Given the description of an element on the screen output the (x, y) to click on. 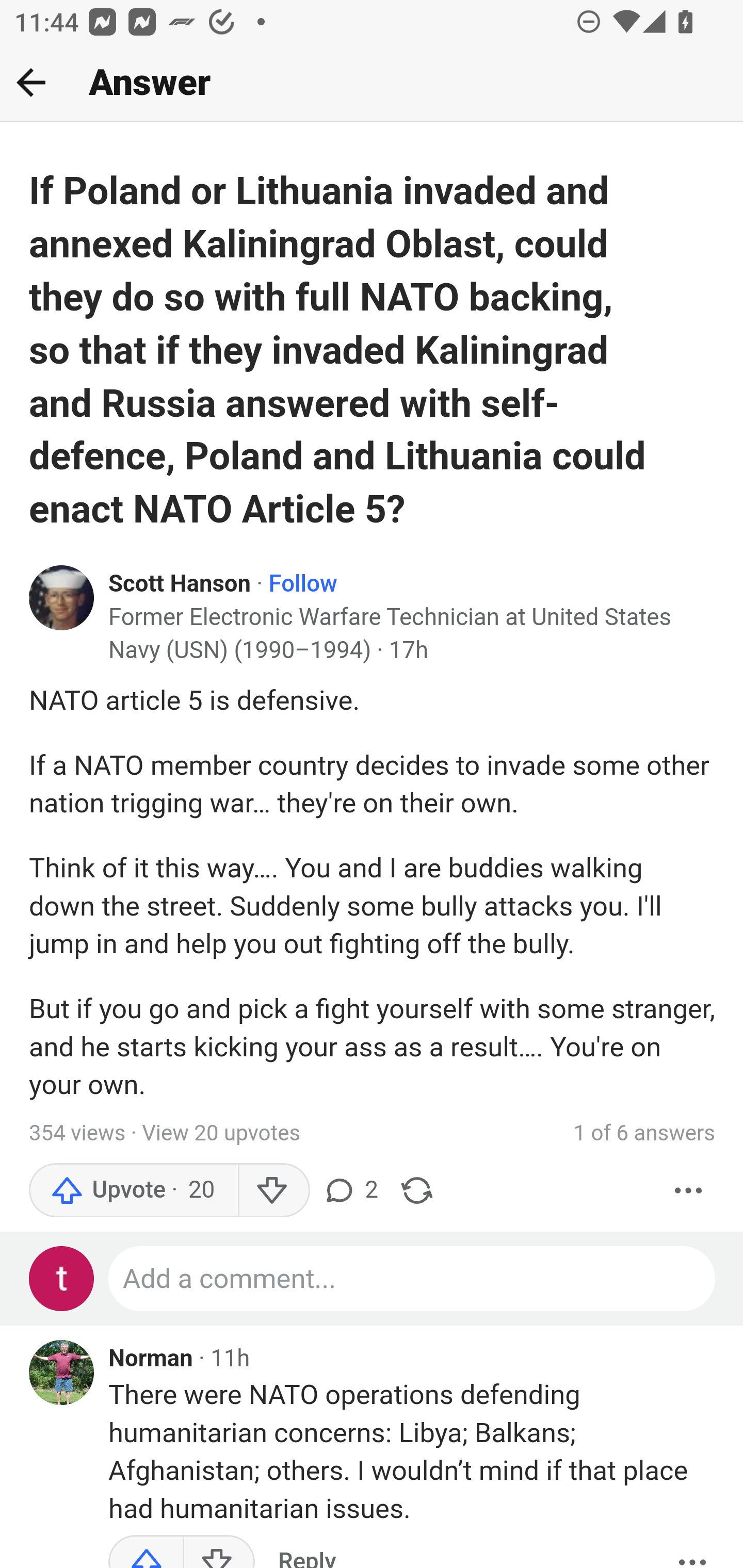
Back Answer (371, 82)
Back (30, 82)
Profile photo for Scott Hanson (61, 597)
Scott Hanson (180, 584)
Follow (302, 584)
17h 17 h (408, 650)
View 20 upvotes (221, 1133)
1 of 6 answers (644, 1133)
Upvote (133, 1190)
Downvote (273, 1190)
2 comments (349, 1190)
Share (416, 1190)
More (688, 1190)
Profile photo for Test Appium (61, 1278)
Add a comment... (412, 1278)
Profile photo for Norman (61, 1372)
Norman (150, 1359)
11h 11 h (230, 1357)
More (691, 1550)
